Given the description of an element on the screen output the (x, y) to click on. 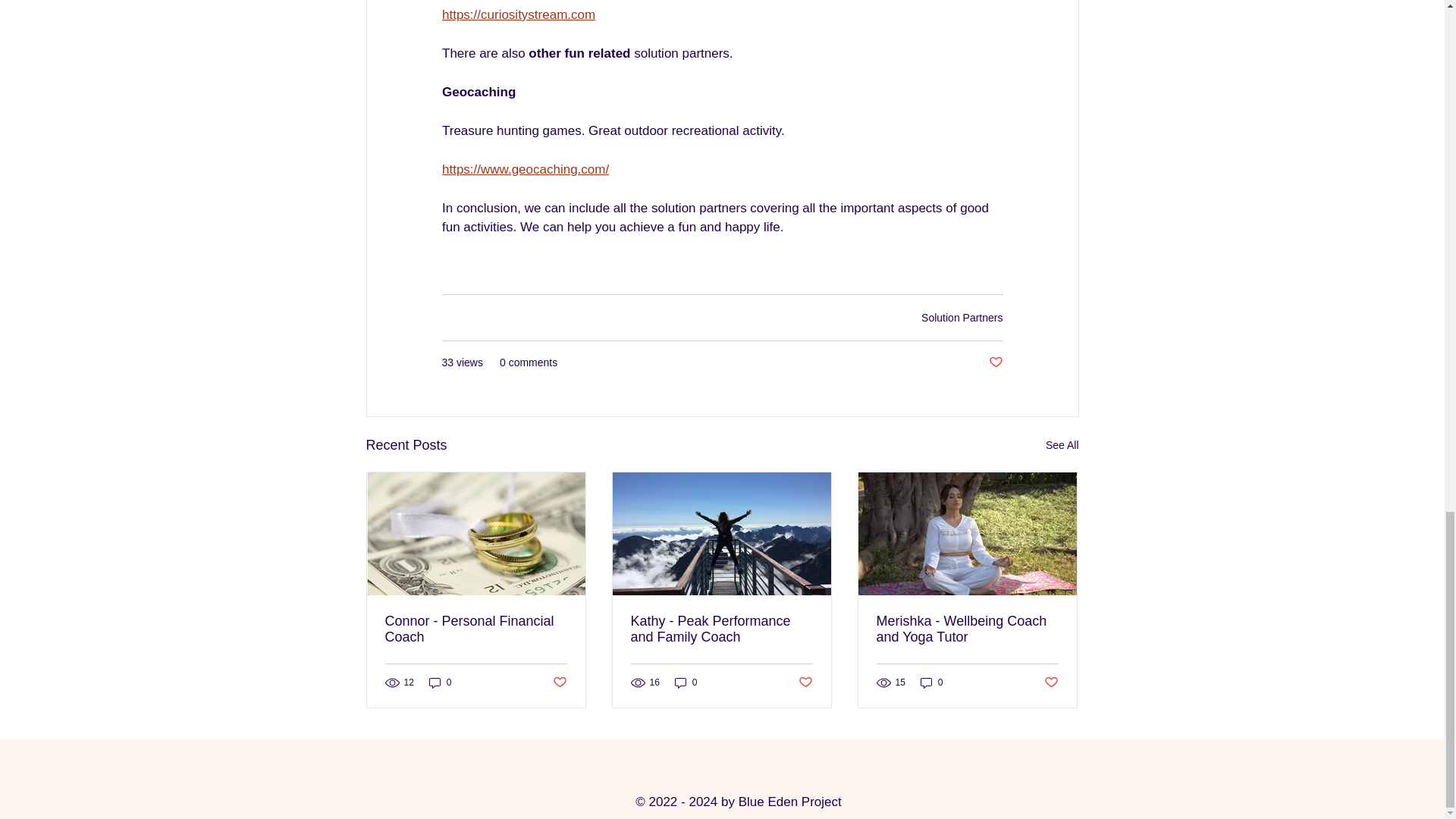
Solution Partners (962, 317)
See All (1061, 445)
Post not marked as liked (995, 362)
